Given the description of an element on the screen output the (x, y) to click on. 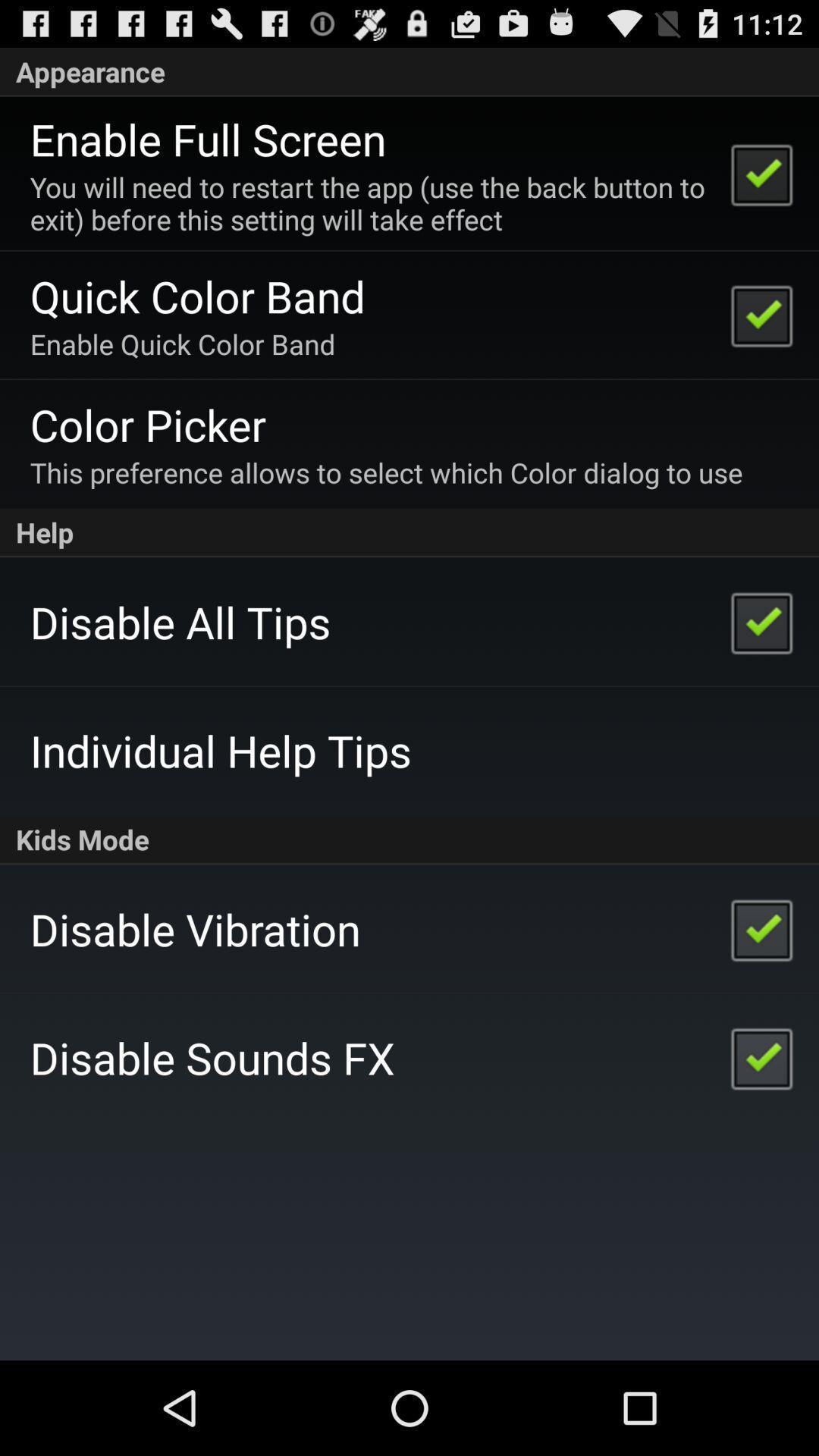
tap the item below disable all tips app (220, 750)
